Given the description of an element on the screen output the (x, y) to click on. 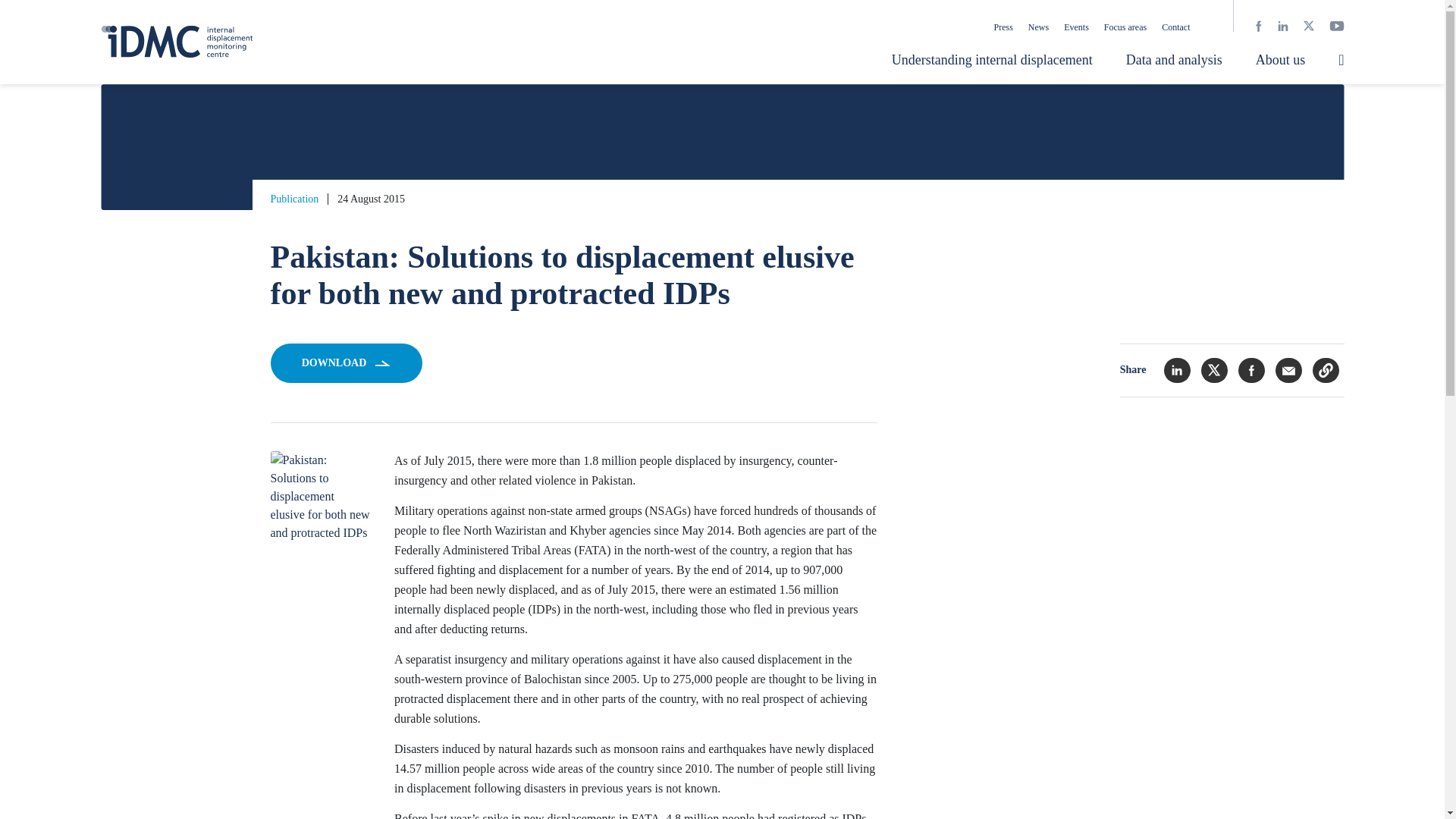
News (1037, 27)
Press (1001, 27)
Contact (1175, 27)
DOWNLOAD (345, 363)
Focus areas (1125, 27)
Events (1076, 27)
